Given the description of an element on the screen output the (x, y) to click on. 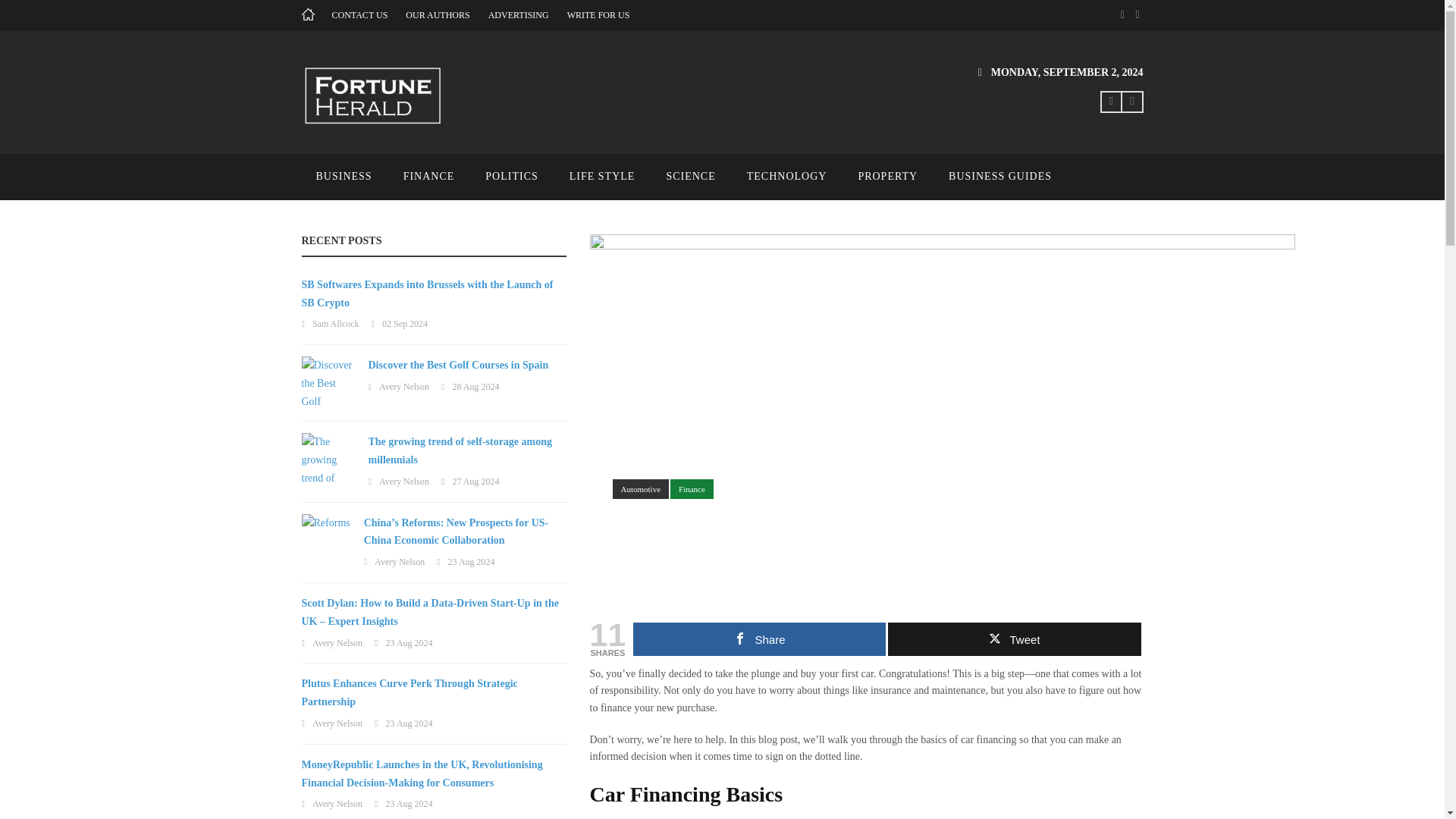
OUR AUTHORS (437, 15)
CONTACT US (359, 15)
ADVERTISING (517, 15)
WRITE FOR US (598, 15)
